Given the description of an element on the screen output the (x, y) to click on. 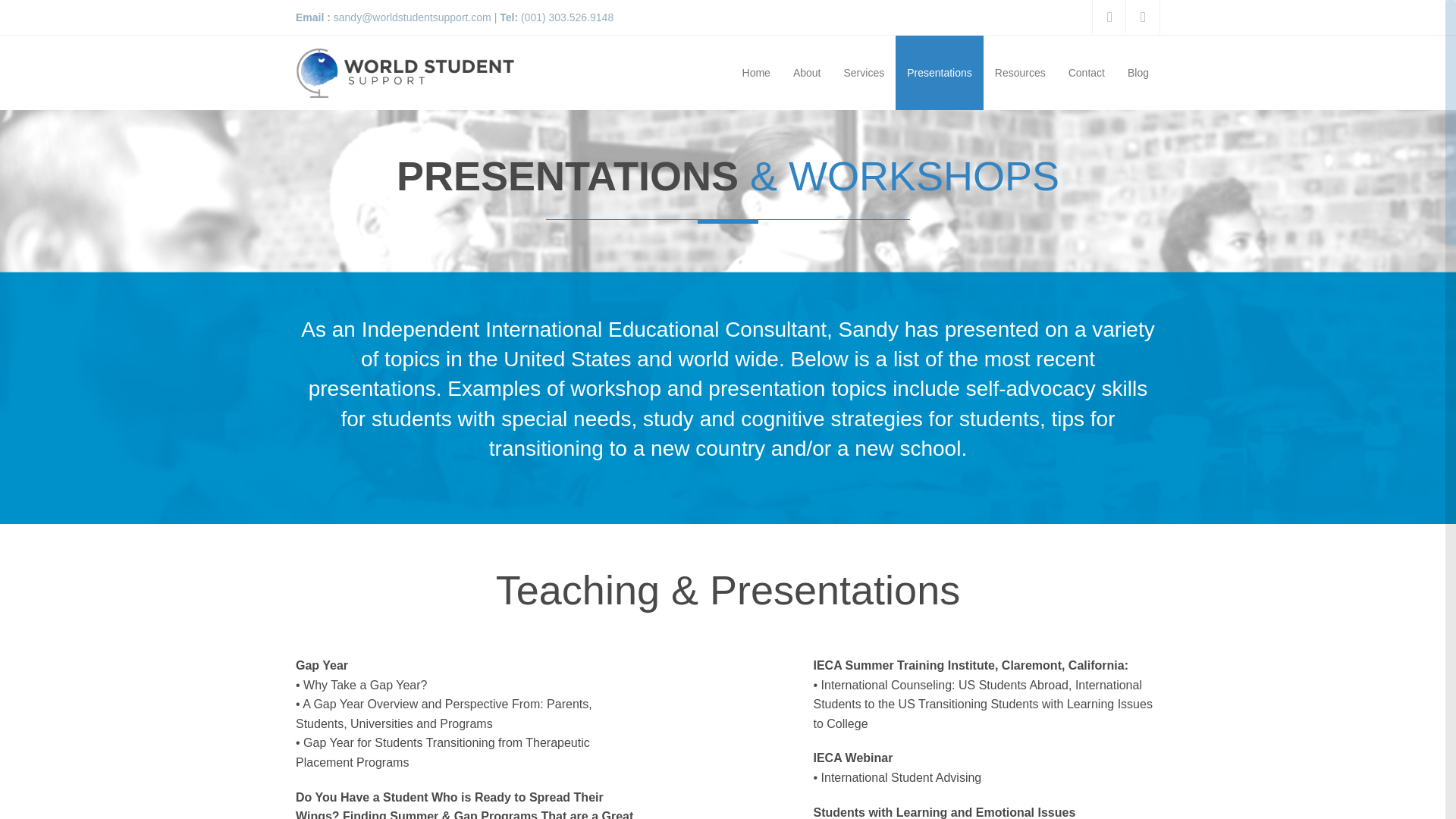
Presentations (939, 72)
World Student Support (404, 72)
Resources (1020, 72)
